Given the description of an element on the screen output the (x, y) to click on. 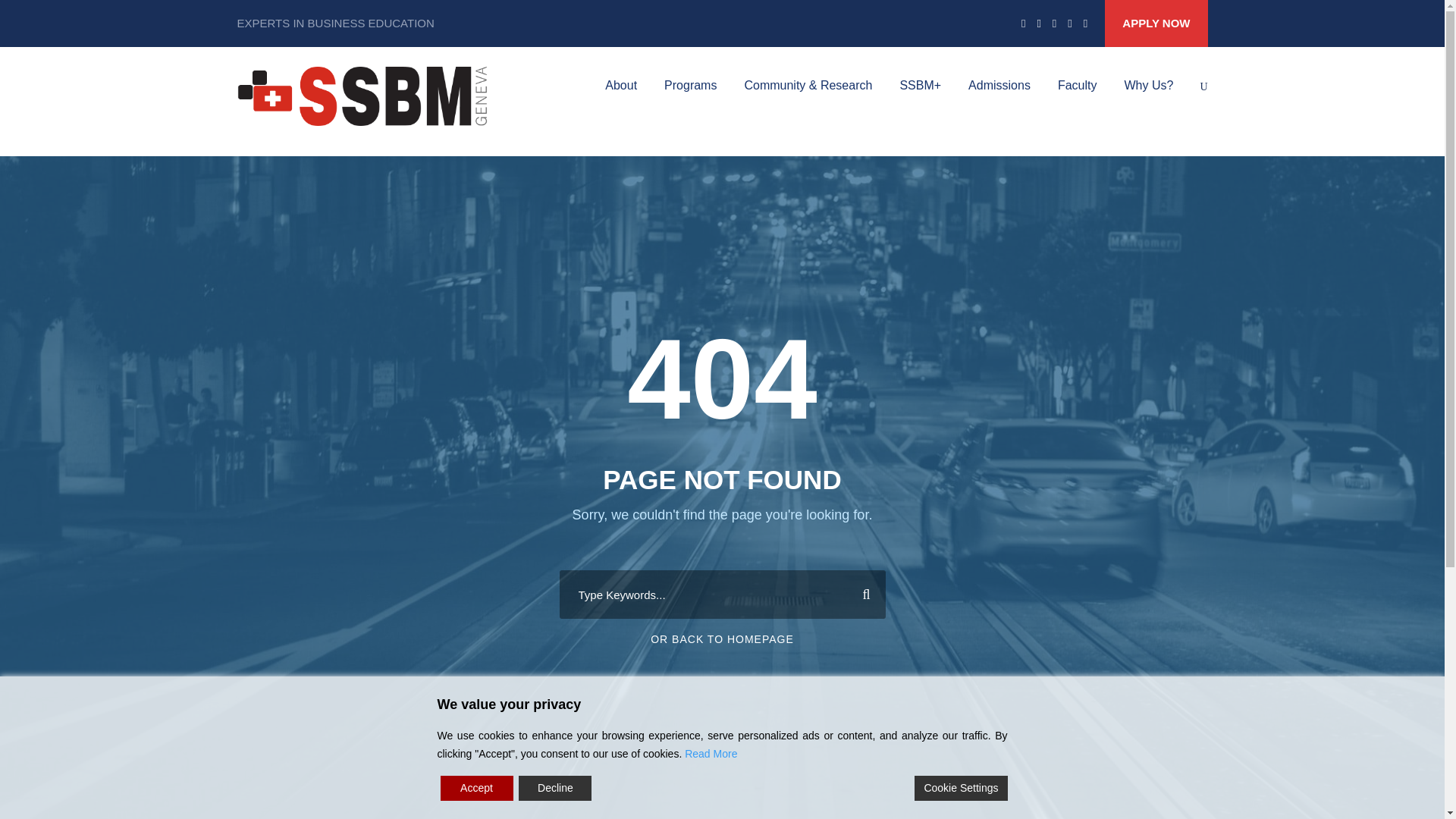
youtube (1069, 22)
instagram (1085, 22)
facebook (1023, 22)
linkedin (1038, 22)
tumblr (1054, 22)
